Given the description of an element on the screen output the (x, y) to click on. 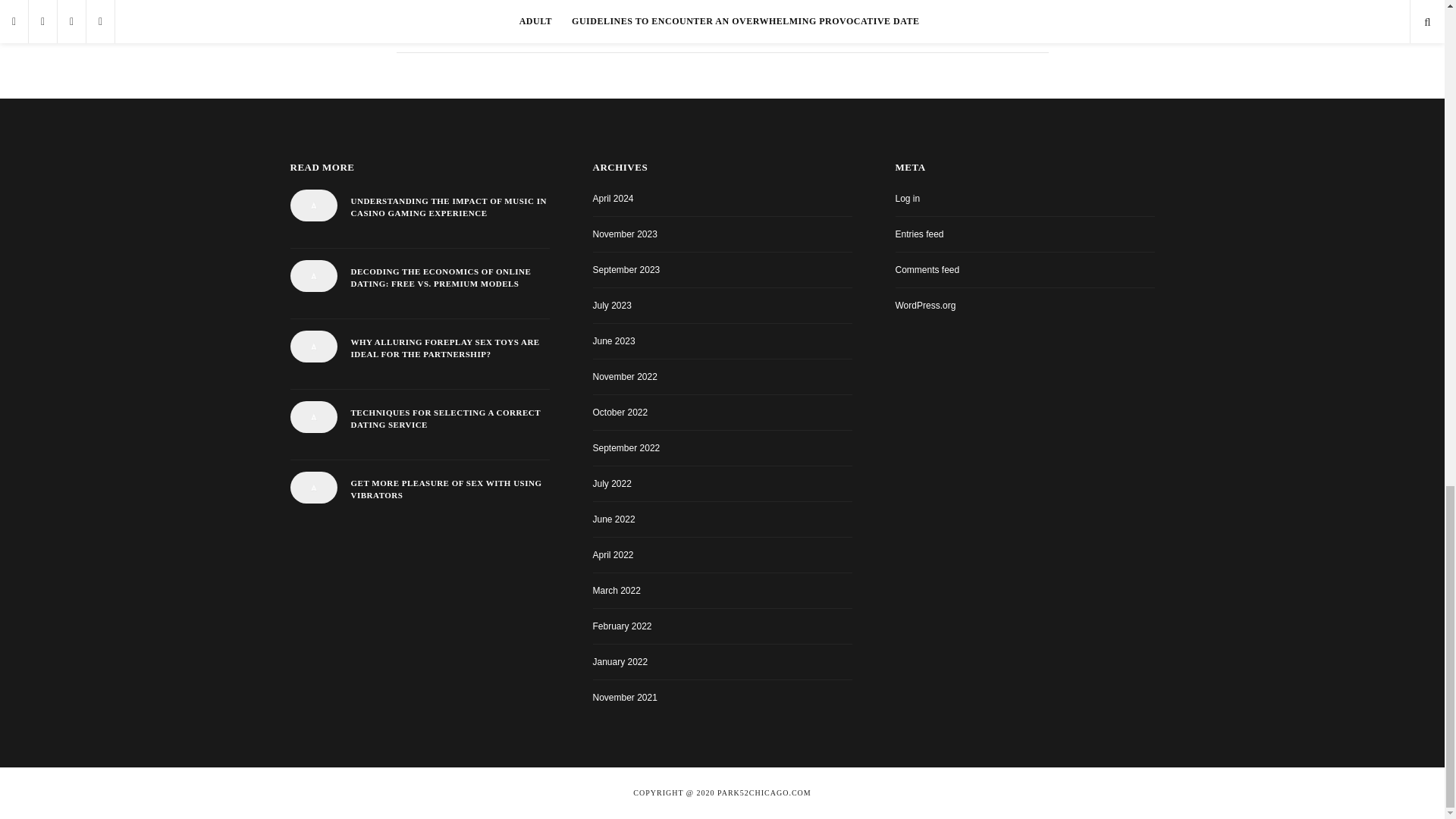
April 2024 (612, 198)
March 2022 (616, 590)
June 2023 (613, 340)
September 2022 (626, 448)
April 2022 (612, 554)
September 2023 (626, 269)
June 2022 (613, 519)
October 2022 (619, 412)
November 2023 (625, 234)
GET MORE PLEASURE OF SEX WITH USING VIBRATORS (449, 489)
July 2022 (611, 483)
November 2022 (625, 376)
